Given the description of an element on the screen output the (x, y) to click on. 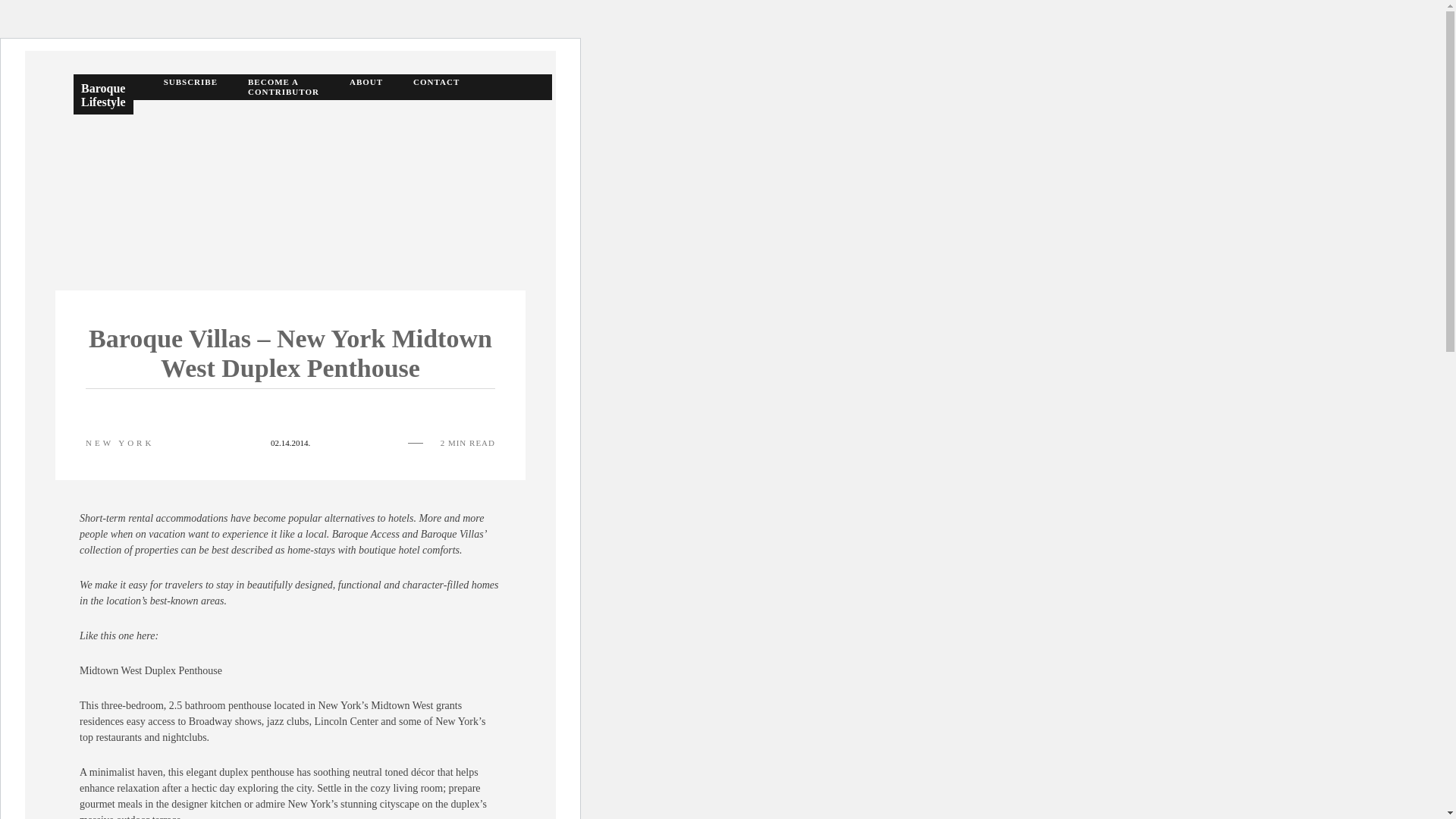
ABOUT (365, 86)
BECOME A CONTRIBUTOR (282, 86)
SUBSCRIBE (189, 86)
NEW YORK (119, 442)
CONTACT (436, 86)
Baroque Lifestyle (103, 94)
